Given the description of an element on the screen output the (x, y) to click on. 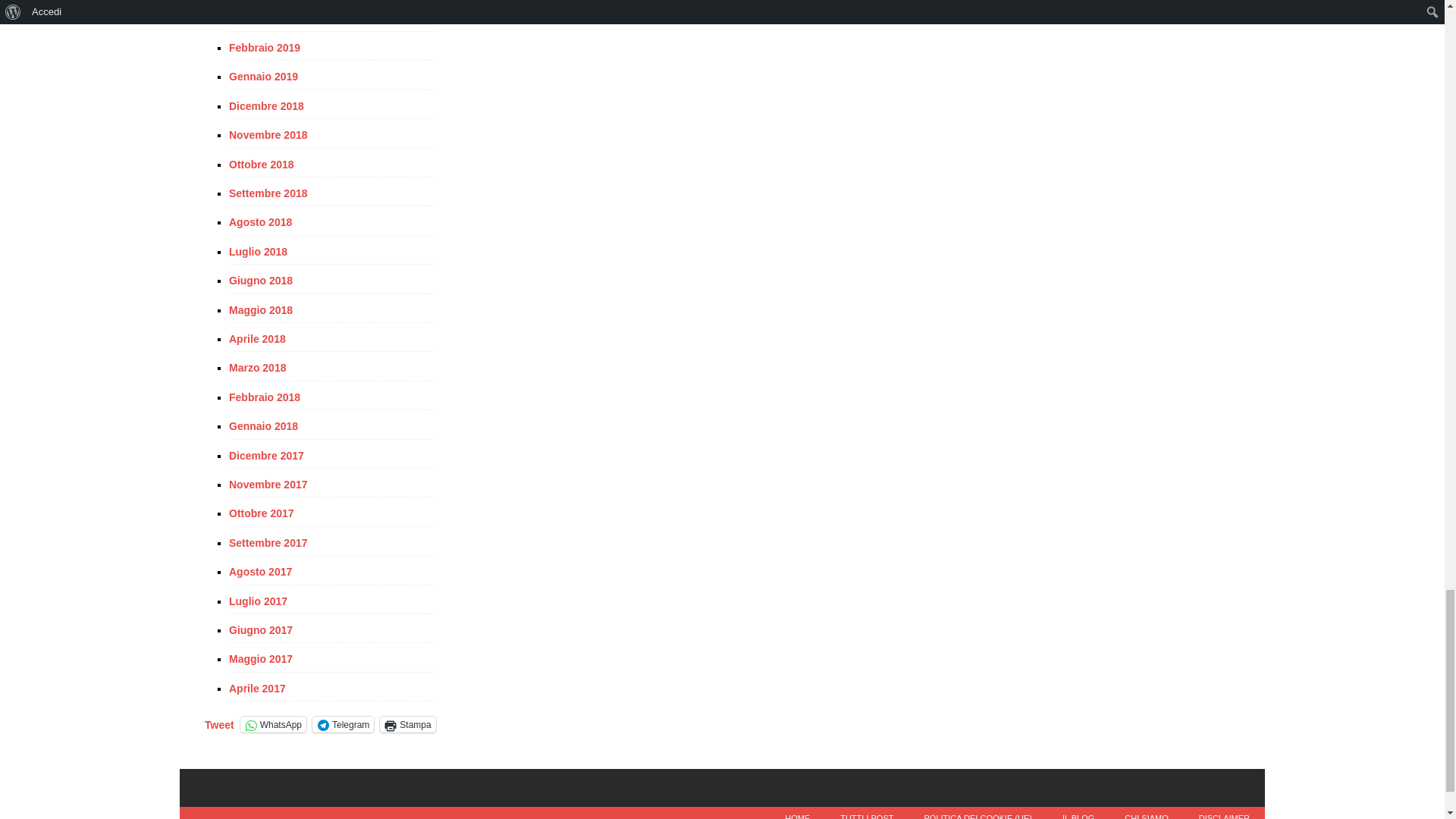
Fai clic qui per stampare (407, 724)
Fai clic per condividere su WhatsApp (272, 724)
Fai clic per condividere su Telegram (343, 724)
